Given the description of an element on the screen output the (x, y) to click on. 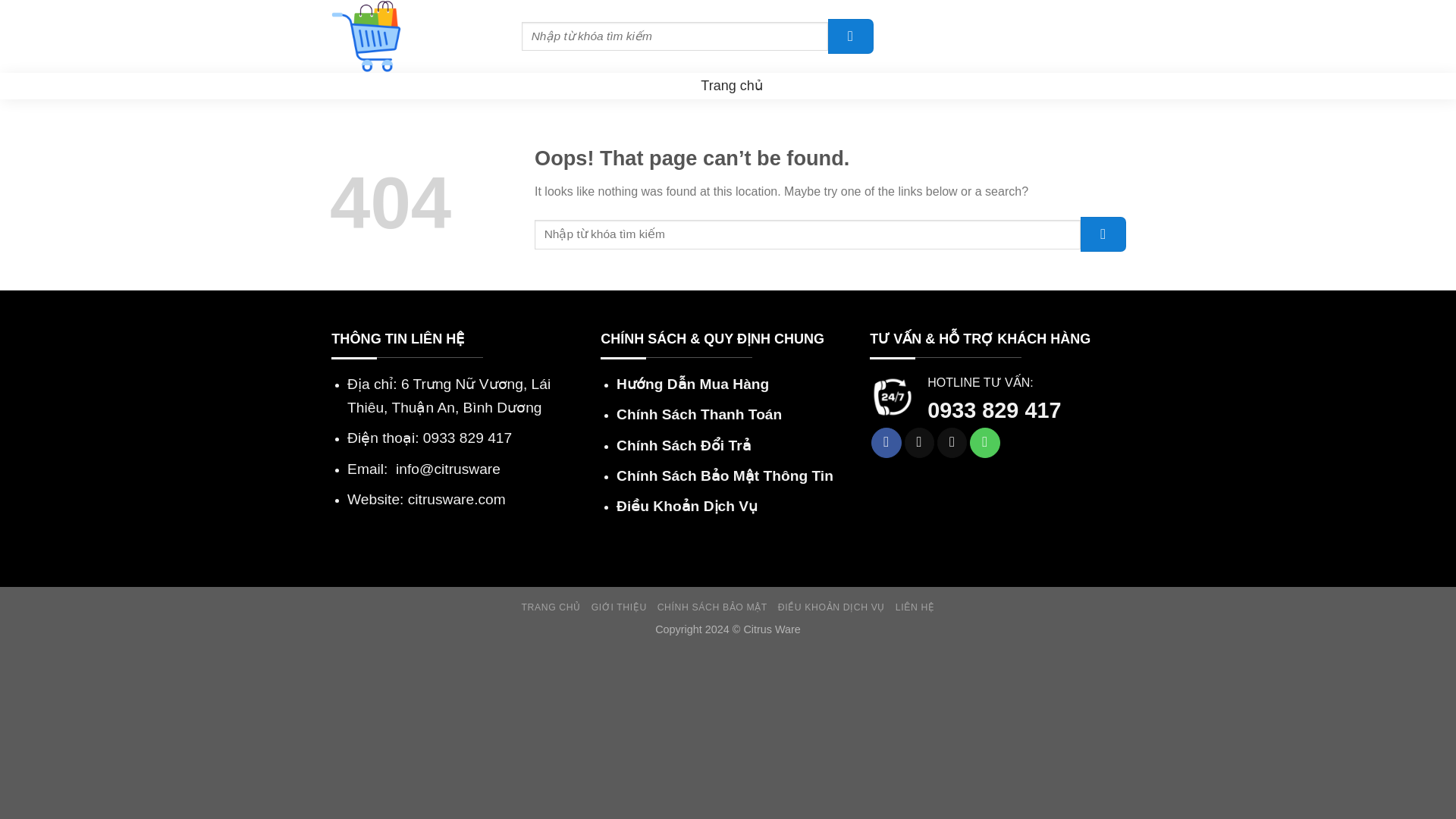
Follow on TikTok (919, 442)
Send us an email (952, 442)
Call us (984, 442)
Follow on Facebook (885, 442)
